Given the description of an element on the screen output the (x, y) to click on. 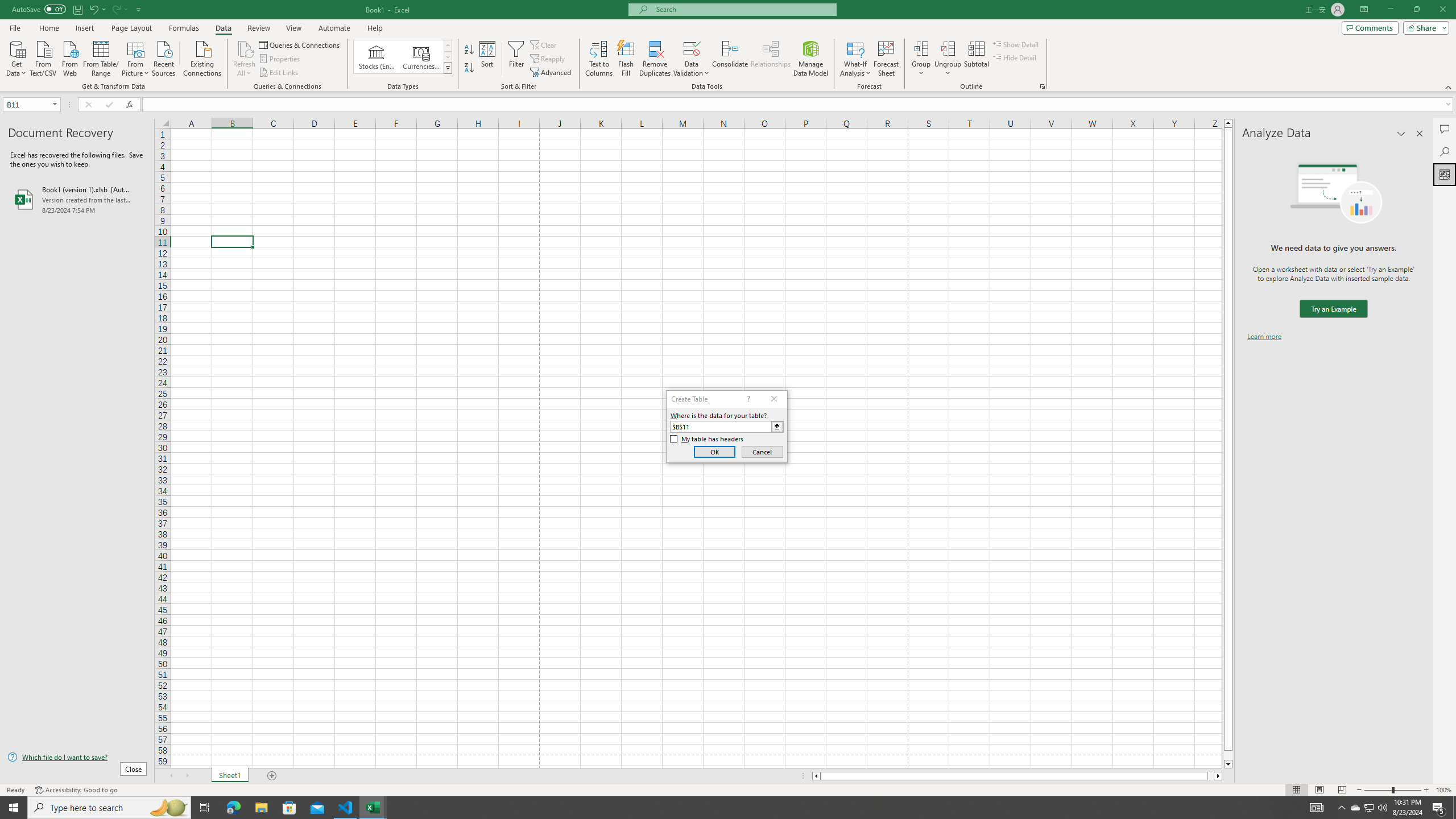
We need data to give you answers. Try an Example (1333, 308)
